Given the description of an element on the screen output the (x, y) to click on. 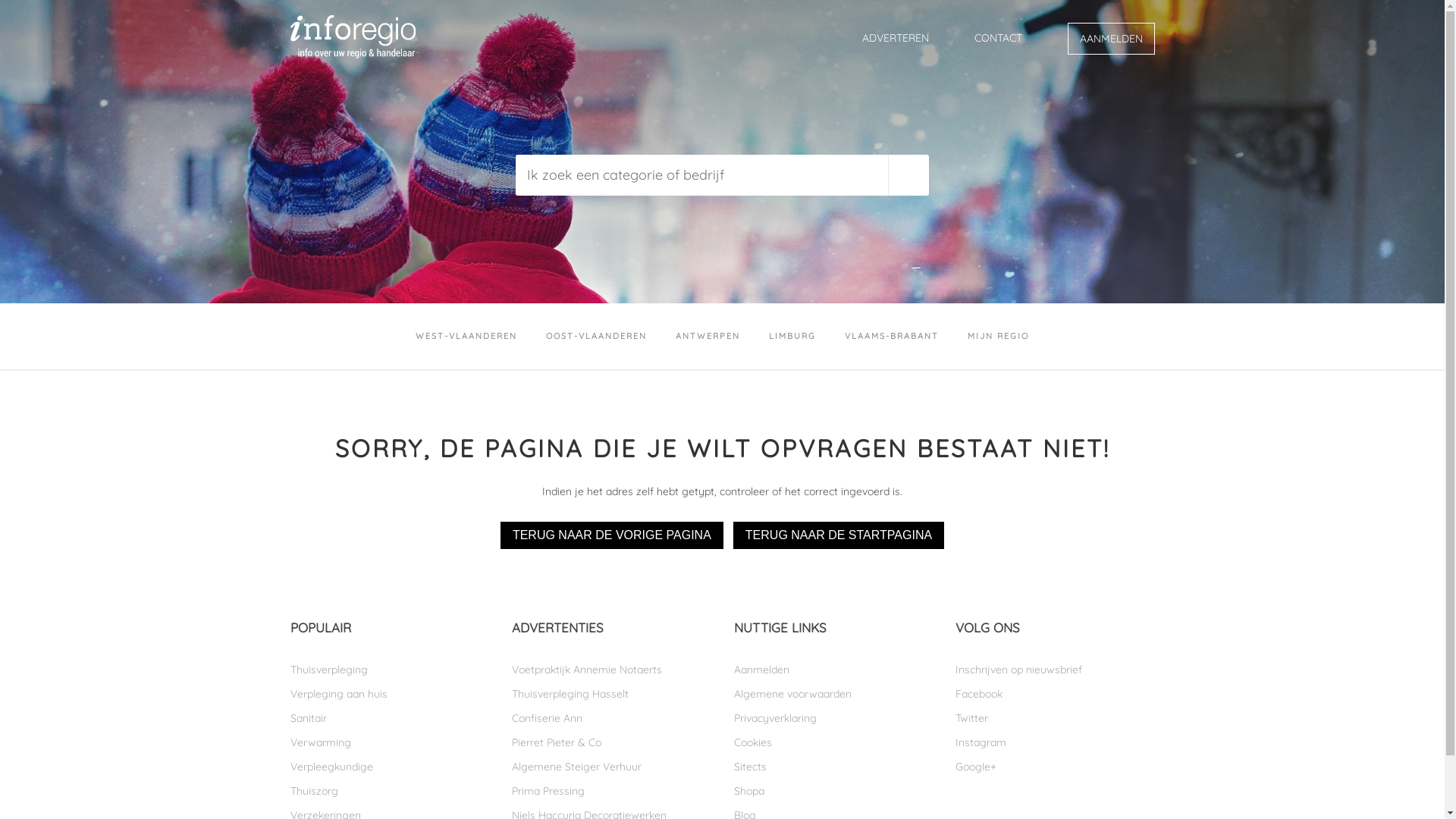
Thuiszorg Element type: text (389, 790)
TERUG NAAR DE VORIGE PAGINA Element type: text (611, 535)
Thuisverpleging Hasselt Element type: text (611, 693)
Voetpraktijk Annemie Notaerts Element type: text (611, 669)
ZOEKEN Element type: text (908, 174)
VLAAMS-BRABANT Element type: text (891, 336)
CONTACT Element type: text (997, 38)
Shopa Element type: text (833, 790)
TERUG NAAR DE STARTPAGINA Element type: text (838, 535)
Confiserie Ann Element type: text (611, 718)
Aanmelden Element type: text (833, 669)
Prima Pressing Element type: text (611, 790)
Privacyverklaring Element type: text (833, 718)
Verwarming Element type: text (389, 742)
ANTWERPEN Element type: text (707, 336)
Verpleging aan huis Element type: text (389, 693)
Sitects Element type: text (833, 766)
Thuisverpleging Element type: text (389, 669)
LIMBURG Element type: text (791, 336)
Verpleegkundige Element type: text (389, 766)
Algemene Steiger Verhuur Element type: text (611, 766)
Twitter Element type: text (1054, 718)
Sanitair Element type: text (389, 718)
WEST-VLAANDEREN Element type: text (466, 336)
ADVERTEREN Element type: text (894, 38)
Google+ Element type: text (1054, 766)
Facebook Element type: text (1054, 693)
Pierret Pieter & Co Element type: text (611, 742)
Algemene voorwaarden Element type: text (833, 693)
Instagram Element type: text (1054, 742)
OOST-VLAANDEREN Element type: text (596, 336)
Cookies Element type: text (833, 742)
AANMELDEN Element type: text (1110, 38)
Inschrijven op nieuwsbrief Element type: text (1054, 669)
